Given the description of an element on the screen output the (x, y) to click on. 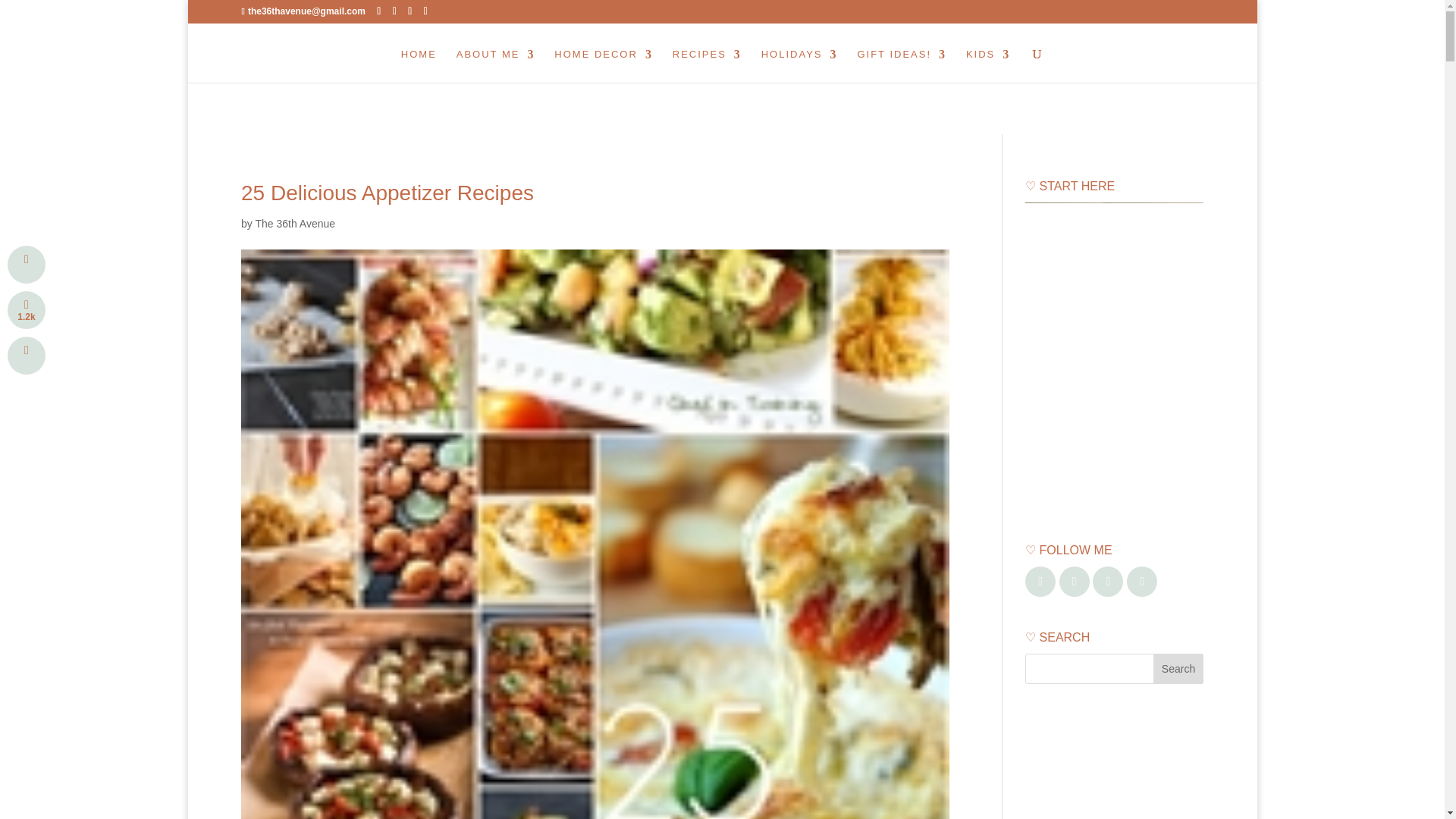
HOME (418, 65)
RECIPES (706, 65)
HOME DECOR (603, 65)
ABOUT ME (496, 65)
HOLIDAYS (799, 65)
Search (1178, 668)
Posts by The 36th Avenue (294, 223)
